Given the description of an element on the screen output the (x, y) to click on. 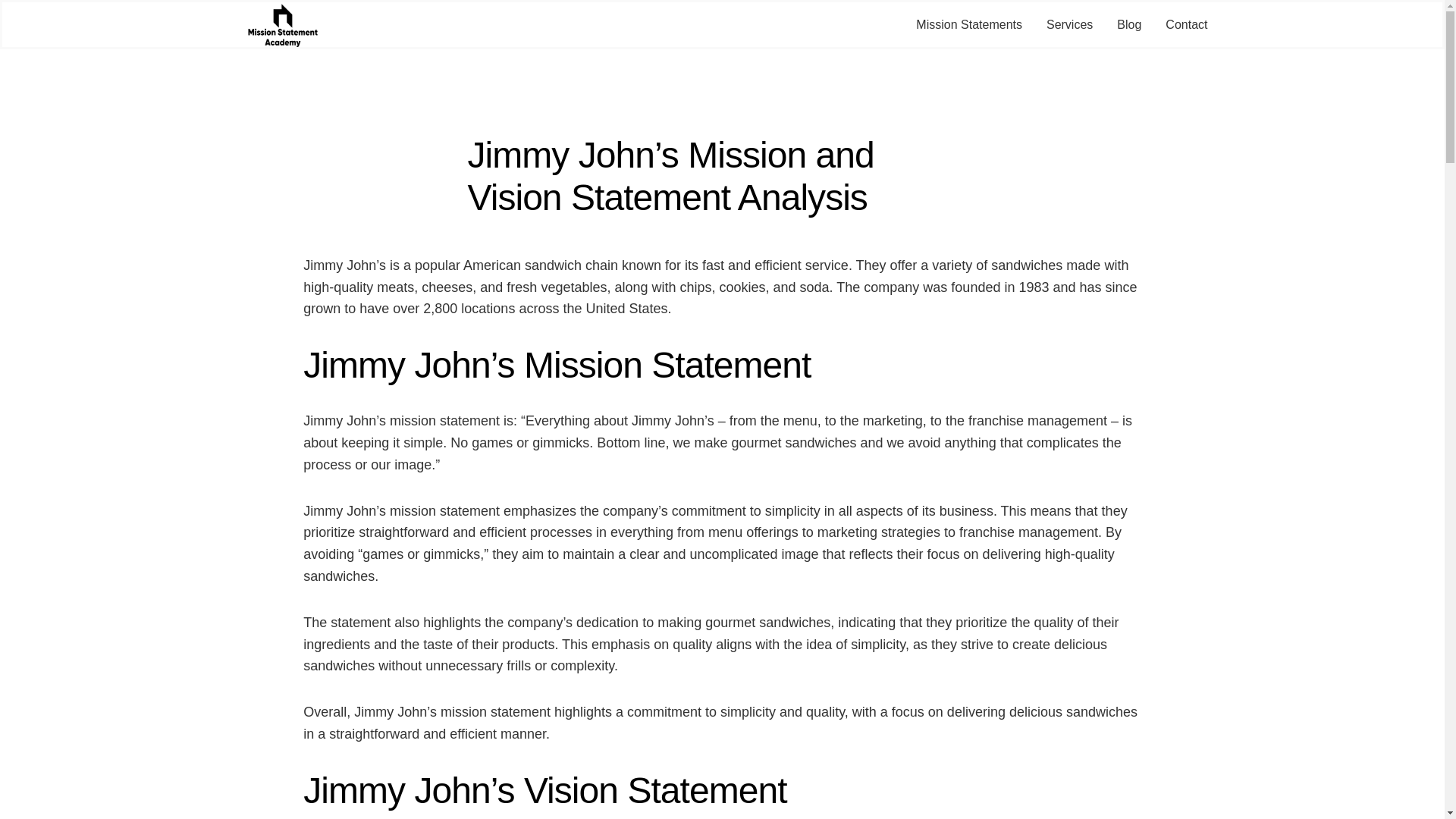
Mission Statements (968, 25)
Services (1069, 25)
Contact (1186, 25)
Blog (1128, 25)
